Given the description of an element on the screen output the (x, y) to click on. 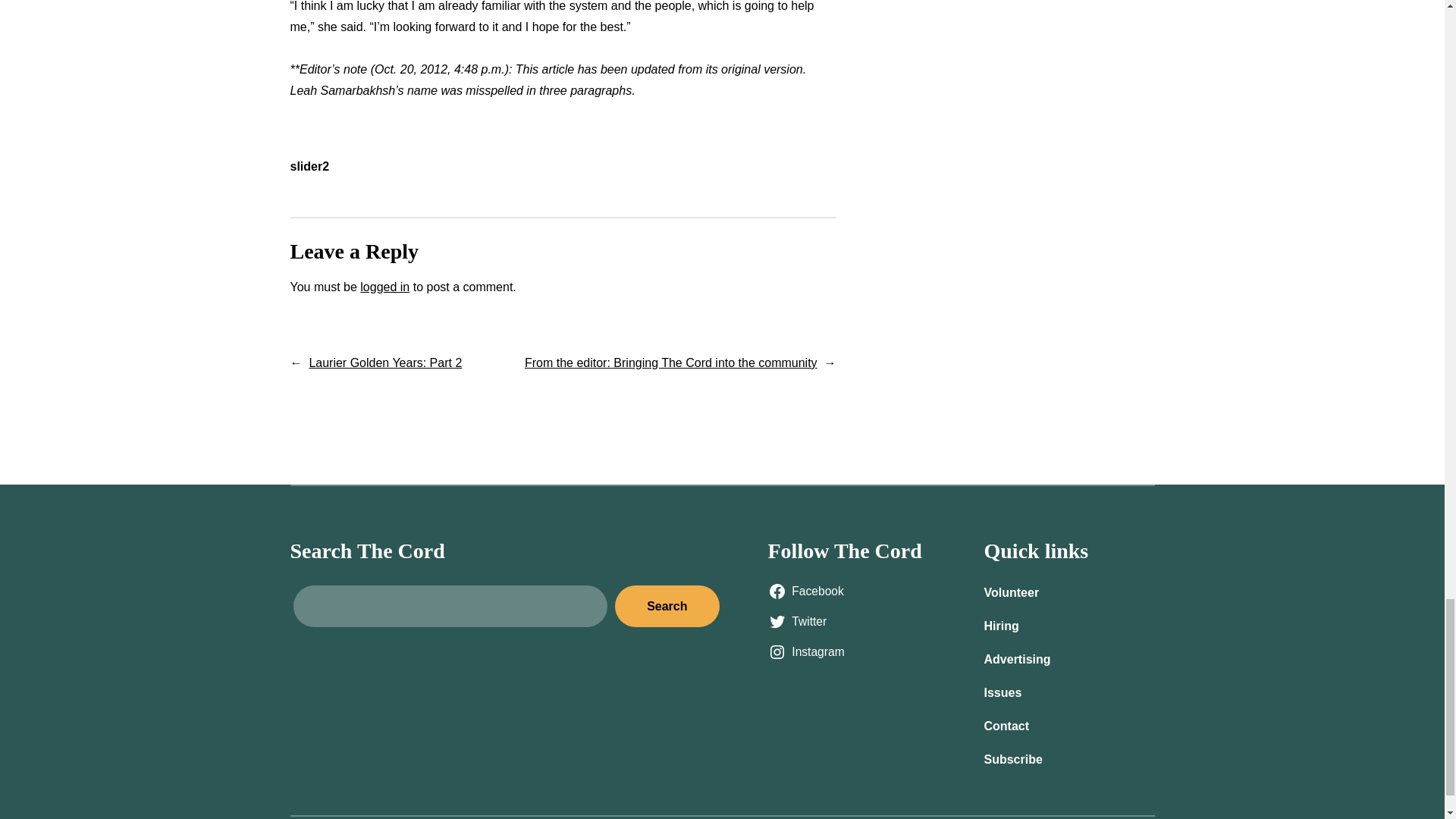
Laurier Golden Years: Part 2 (384, 362)
slider2 (309, 165)
From the editor: Bringing The Cord into the community (670, 362)
logged in (384, 286)
